Given the description of an element on the screen output the (x, y) to click on. 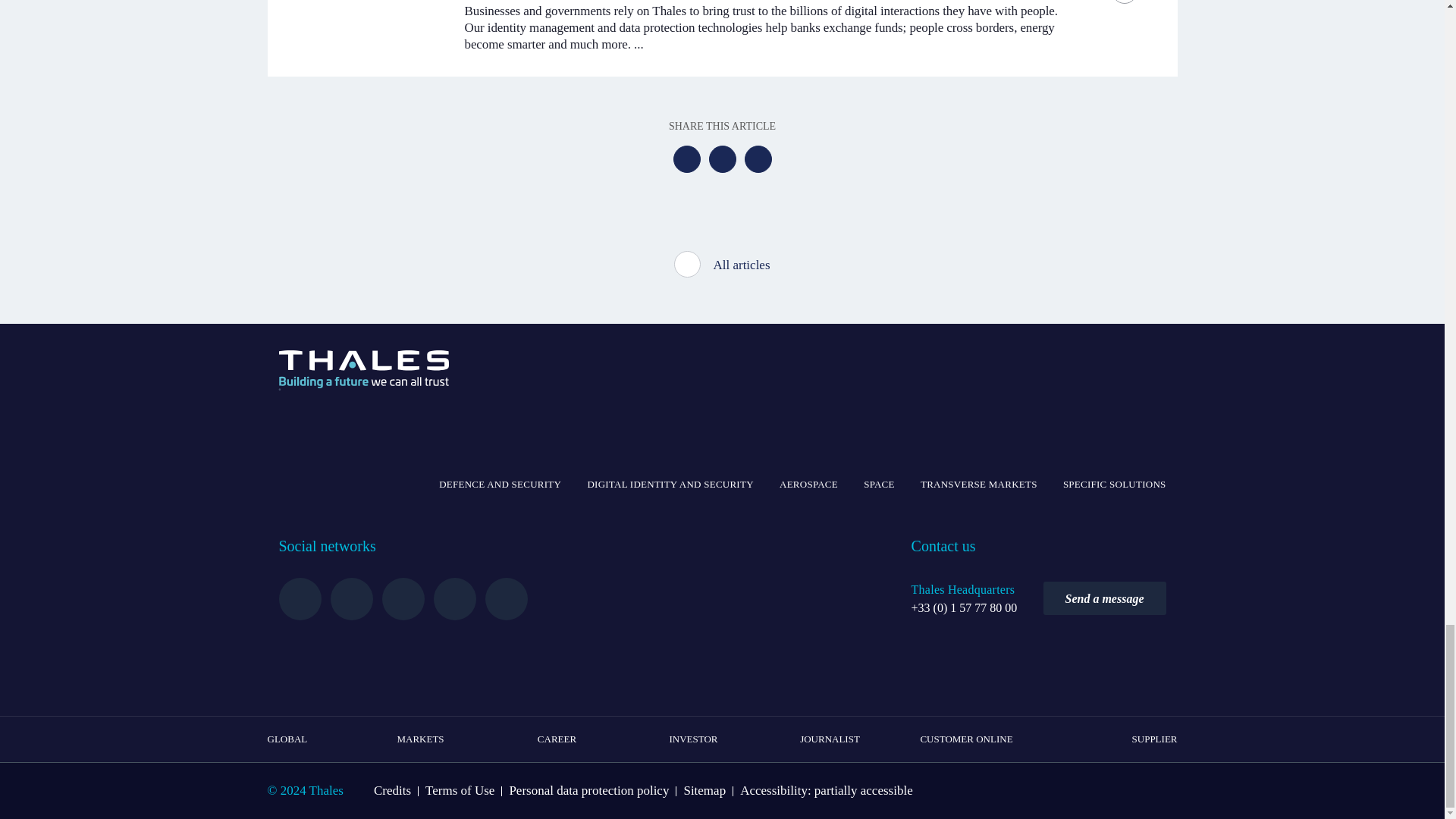
Accessibility level of this web site (825, 789)
